Given the description of an element on the screen output the (x, y) to click on. 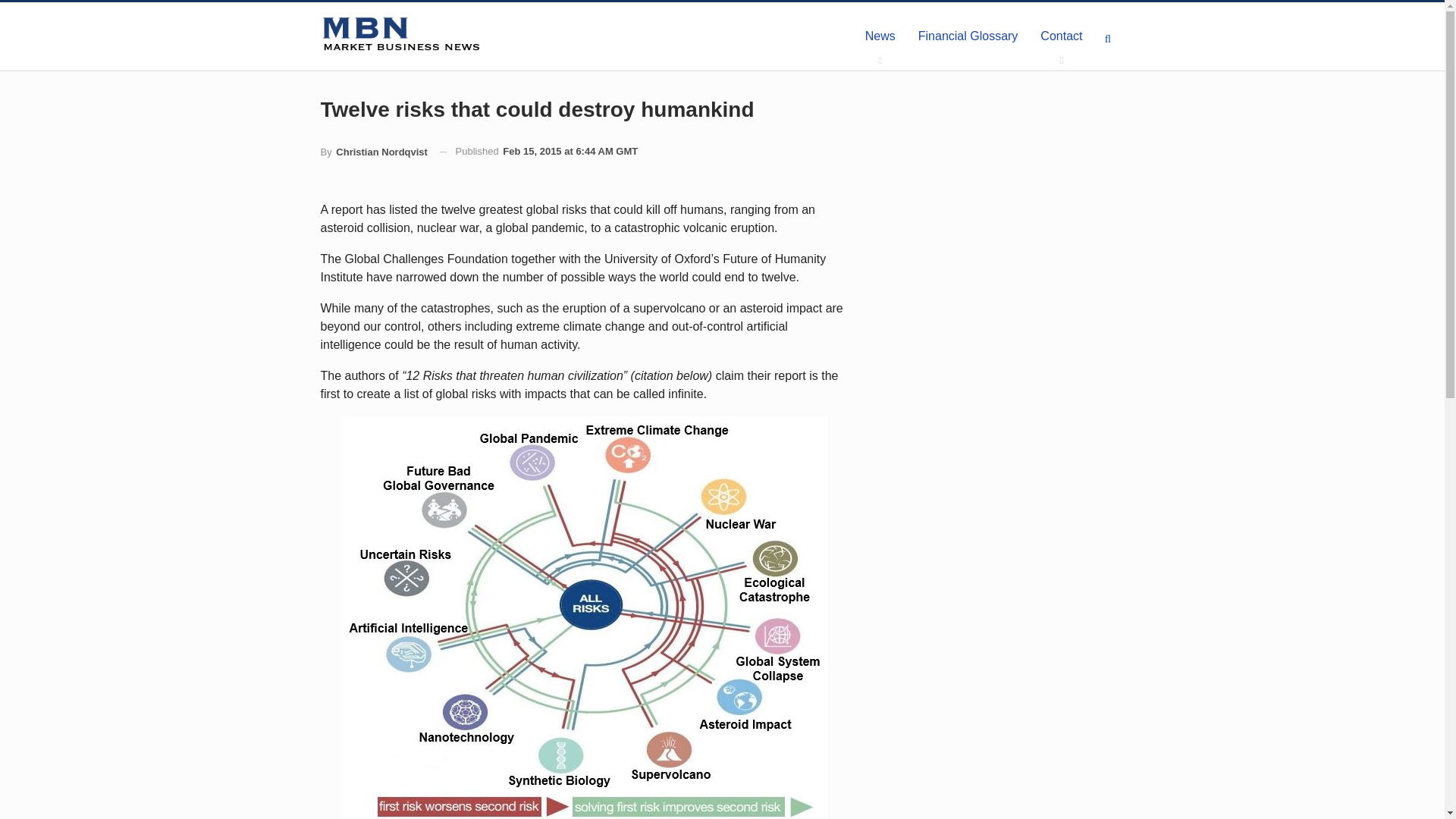
Browse Author Articles (373, 152)
Financial Glossary (968, 36)
Contact (1061, 36)
By Christian Nordqvist (373, 152)
